Given the description of an element on the screen output the (x, y) to click on. 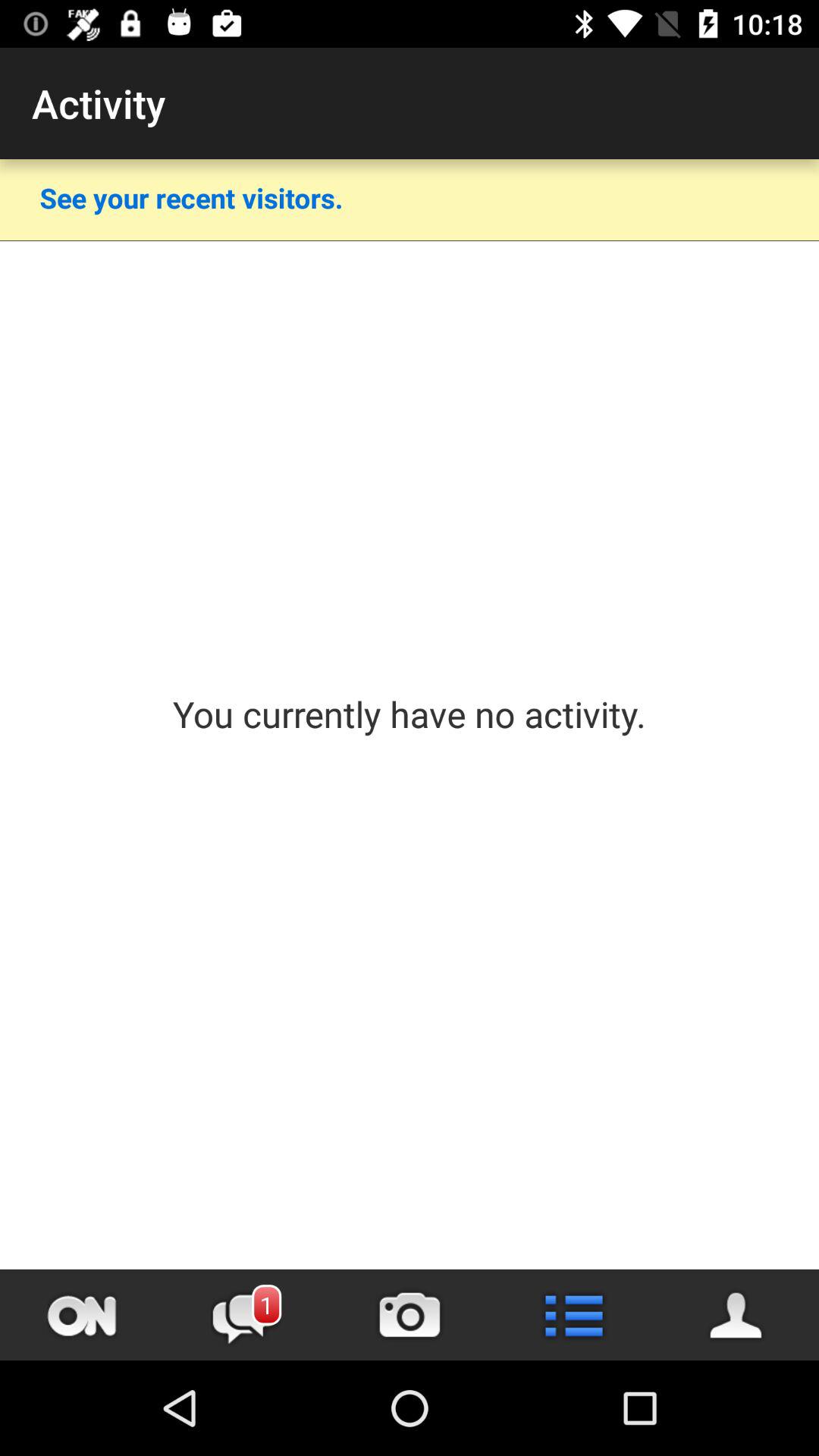
jump until the see your recent item (190, 197)
